Given the description of an element on the screen output the (x, y) to click on. 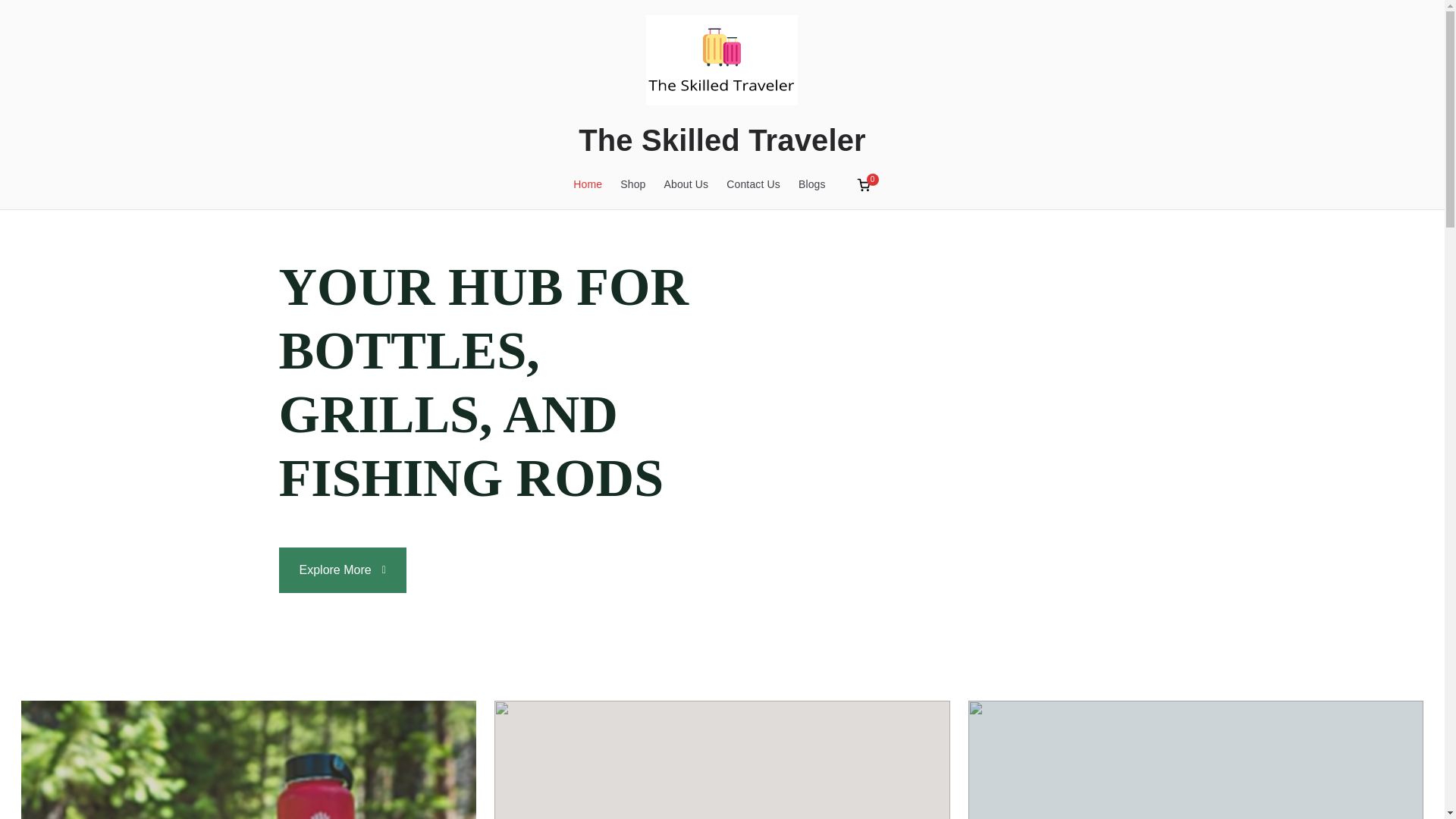
Explore More (342, 569)
Contact Us (753, 184)
The Skilled Traveler (722, 140)
Blogs (811, 184)
0 (863, 184)
About Us (686, 184)
Home (587, 184)
Shop (632, 184)
View your shopping cart (863, 184)
